Given the description of an element on the screen output the (x, y) to click on. 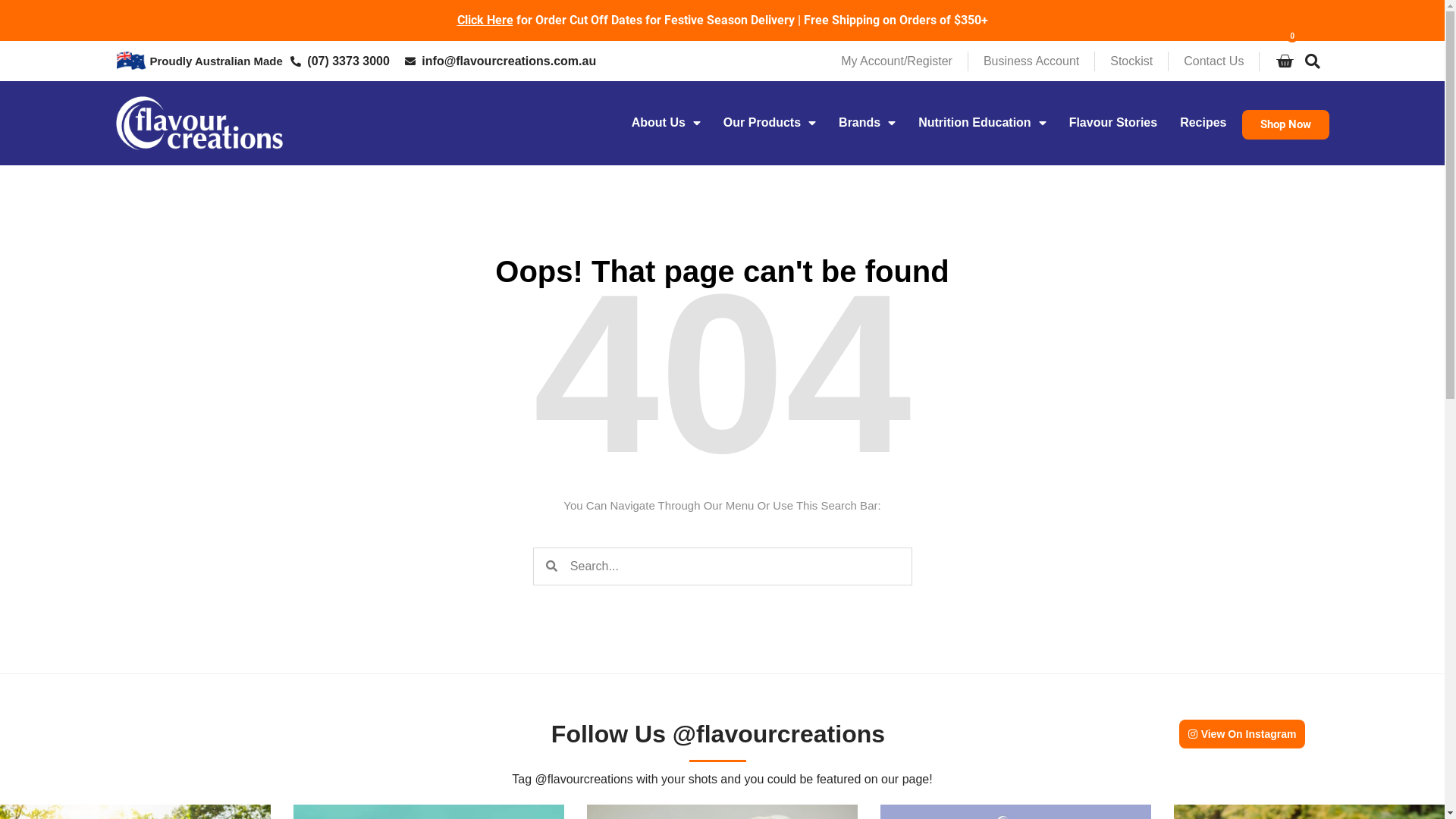
Our Products Element type: text (769, 122)
About Us Element type: text (665, 122)
(07) 3373 3000 Element type: text (339, 61)
Click Here Element type: text (484, 19)
View On Instagram Element type: text (1242, 733)
Nutrition Education Element type: text (981, 122)
0 Element type: text (1284, 60)
Contact Us Element type: text (1213, 61)
My Account/Register Element type: text (896, 61)
info@flavourcreations.com.au Element type: text (500, 61)
Flavour Stories Element type: text (1113, 122)
Business Account Element type: text (1031, 61)
Stockist Element type: text (1131, 61)
Brands Element type: text (866, 122)
Shop Now Element type: text (1285, 124)
Recipes Element type: text (1202, 122)
